Given the description of an element on the screen output the (x, y) to click on. 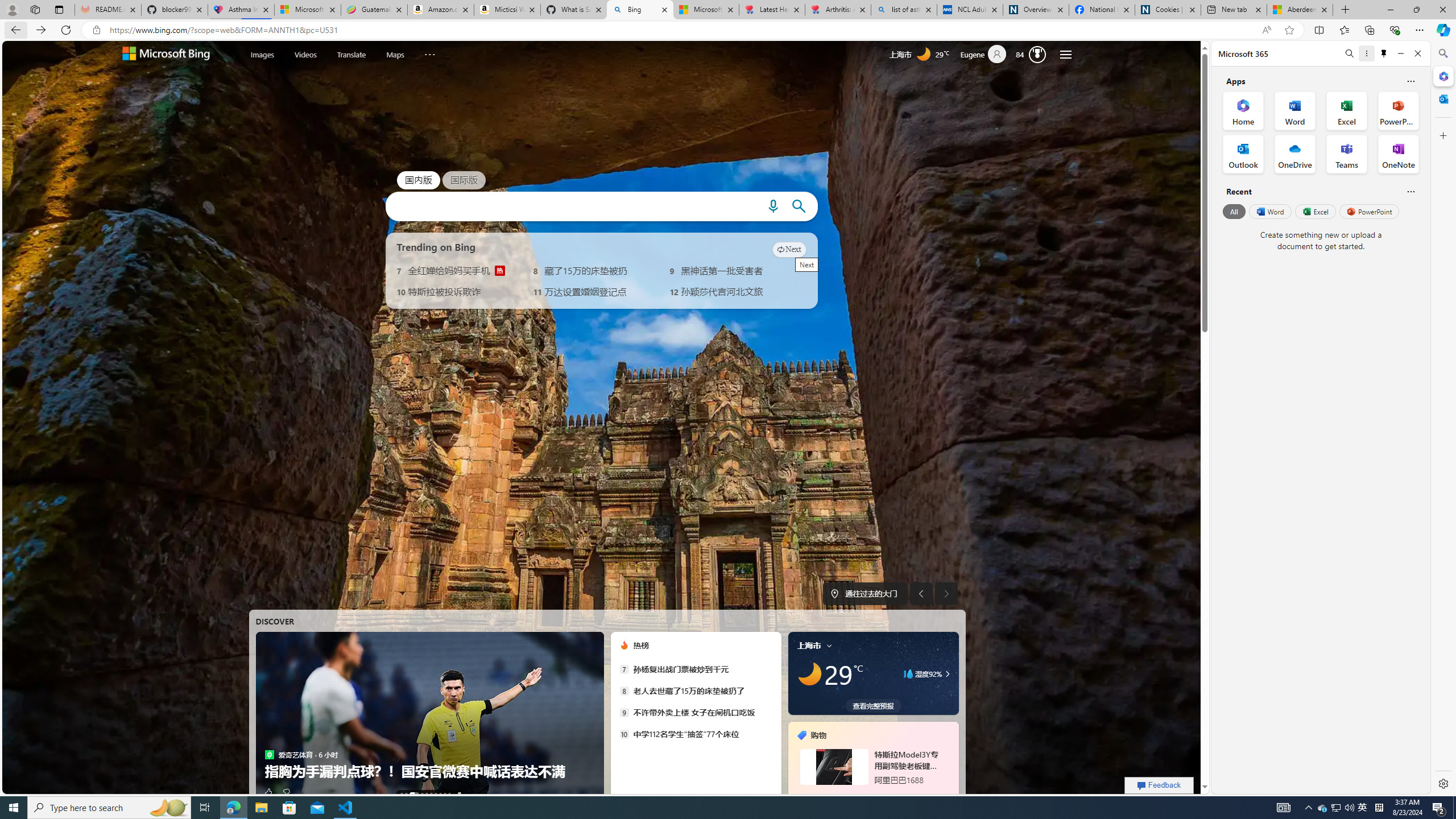
AutomationID: tab-3 (421, 793)
Microsoft Rewards 84 (1033, 54)
Forward (40, 29)
Trending on Bing (436, 246)
tab-7 (859, 795)
AutomationID: tab-8 (444, 793)
